Given the description of an element on the screen output the (x, y) to click on. 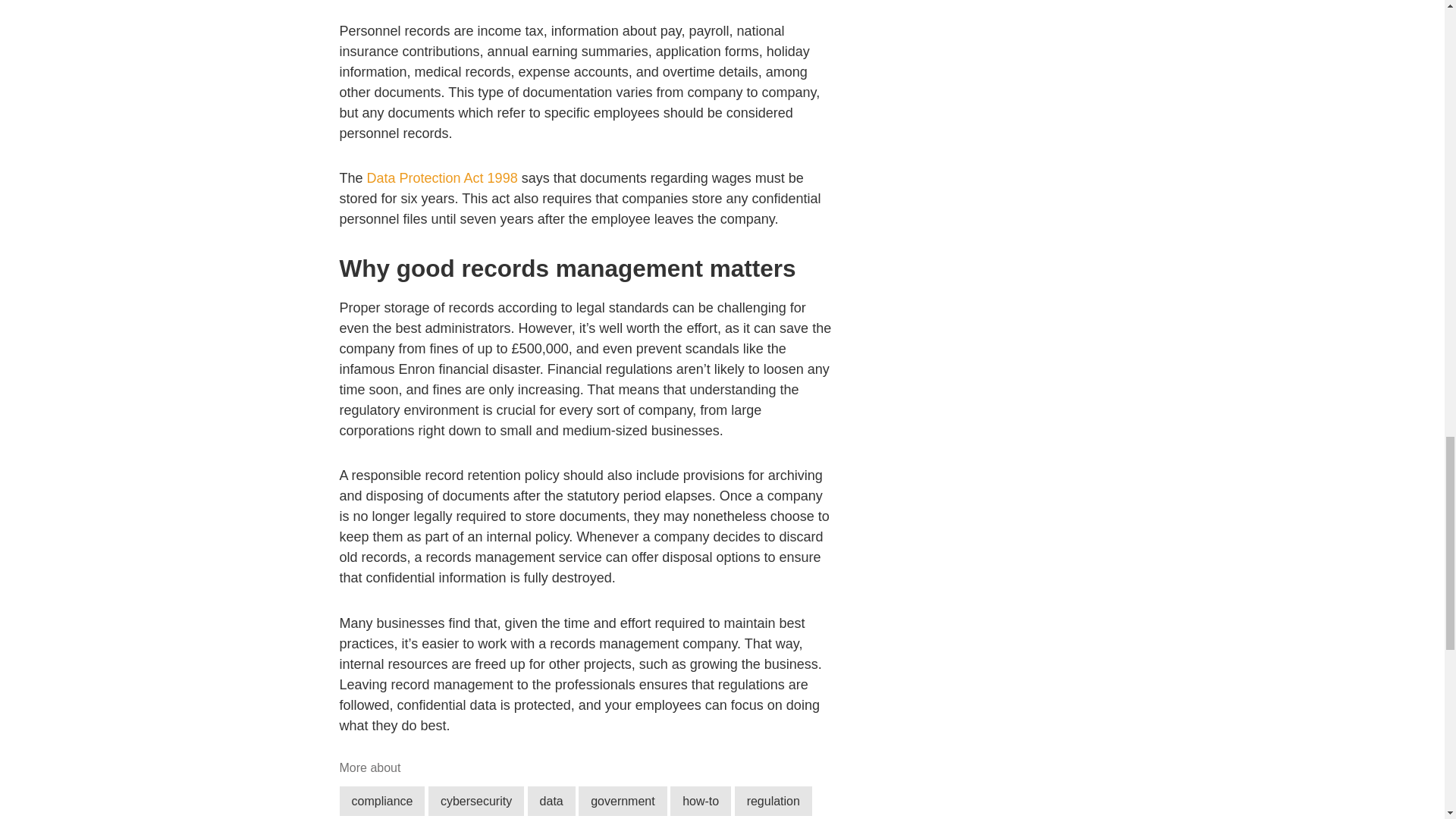
how-to (699, 800)
government (622, 800)
data (551, 800)
regulation (773, 800)
Data Protection Act 1998 (442, 177)
cybersecurity (476, 800)
government (622, 800)
compliance (382, 800)
compliance (382, 800)
cybersecurity (476, 800)
how-to (699, 800)
regulation (773, 800)
data (551, 800)
